Given the description of an element on the screen output the (x, y) to click on. 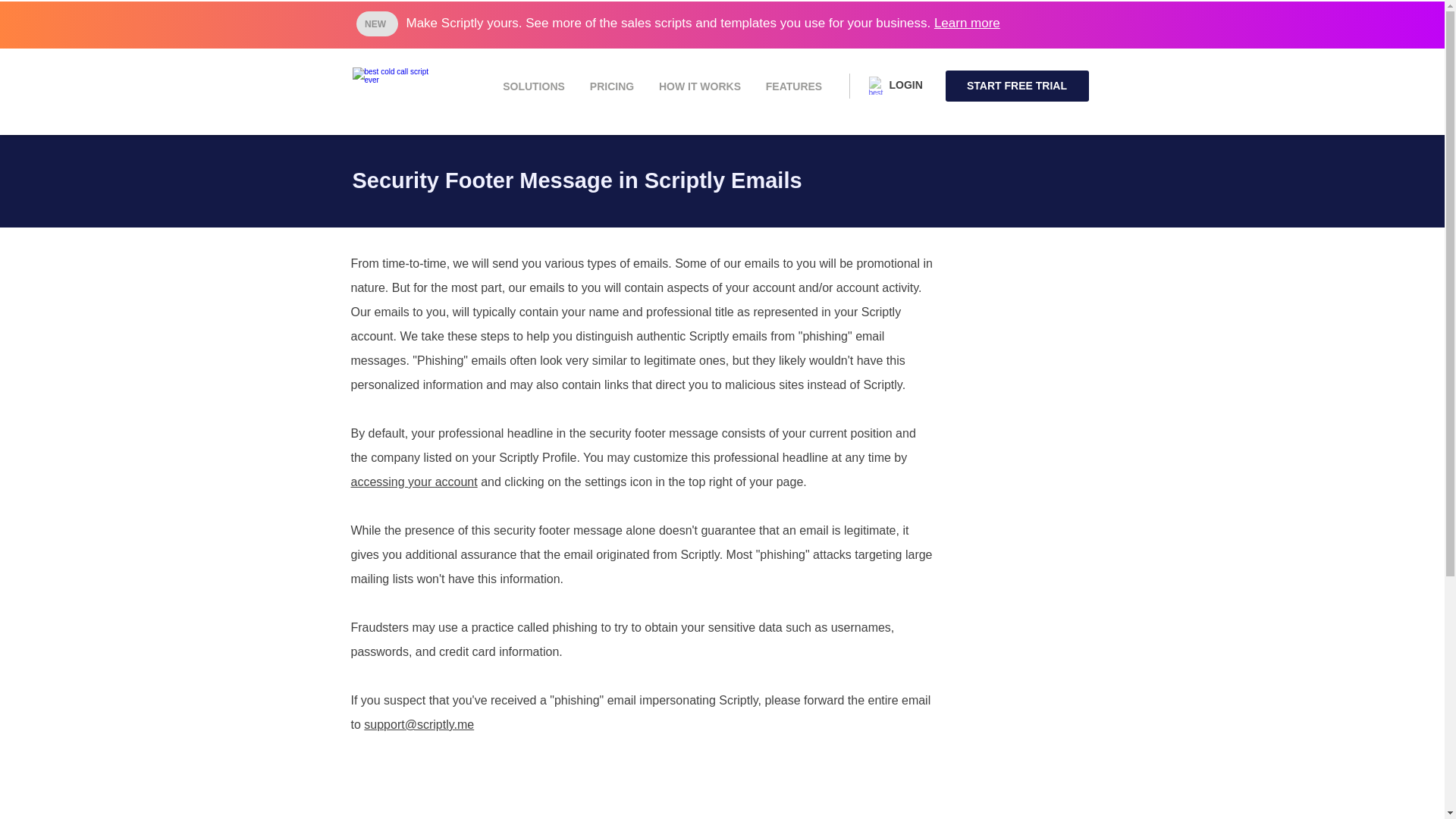
START FREE TRIAL (1015, 85)
Learn more (967, 22)
accessing your account (413, 481)
NEW (376, 23)
LOGIN (904, 84)
FEATURES (794, 86)
HOW IT WORKS (699, 86)
PRICING (612, 86)
